Given the description of an element on the screen output the (x, y) to click on. 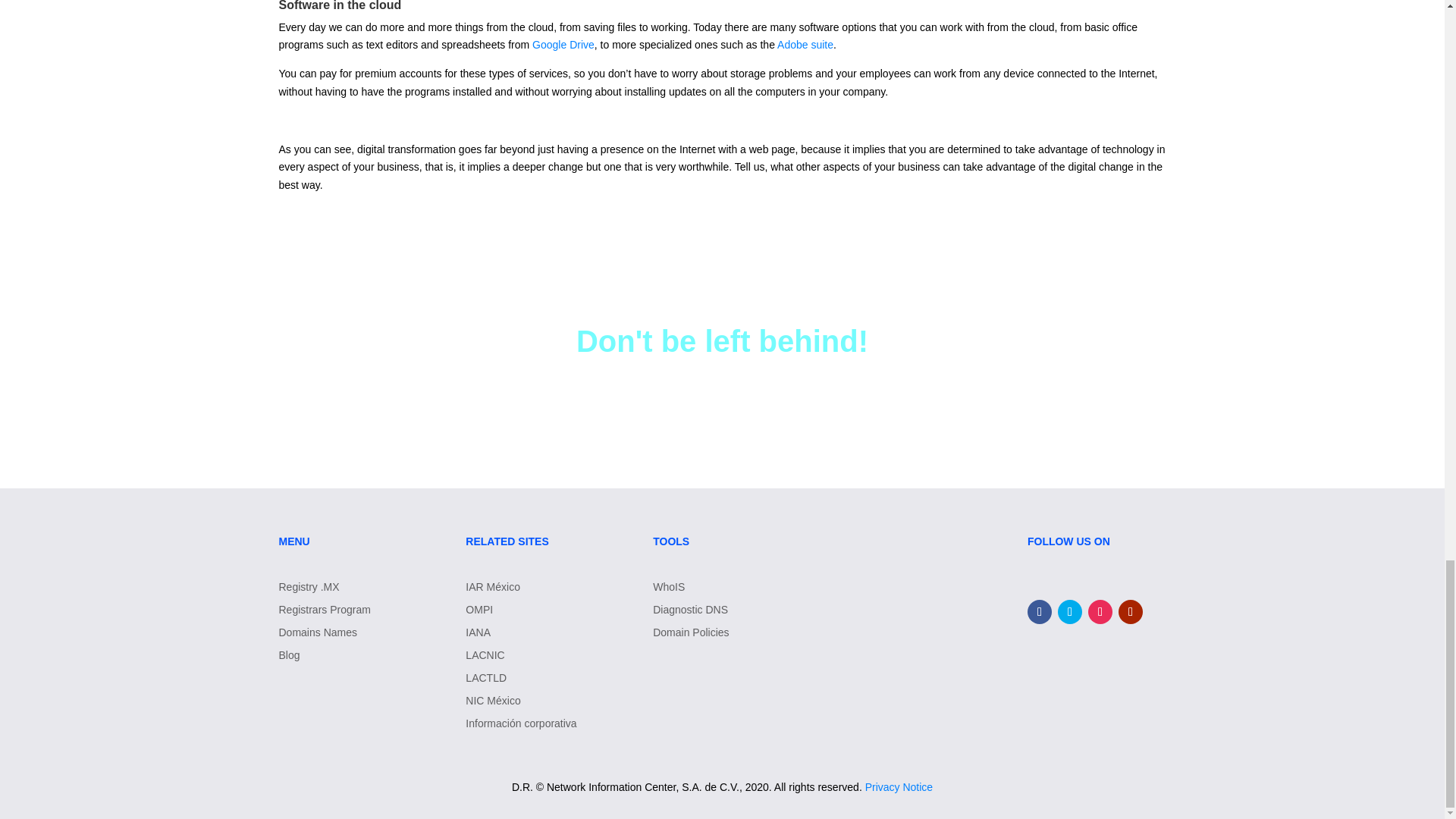
Domains Names (325, 635)
REGISTER YOUR .MX HERE (722, 408)
Registrars Program (325, 612)
Follow on Instagram (1099, 611)
Registry .MX (325, 589)
OMPI (520, 612)
Adobe suite (804, 44)
Blog (325, 658)
Follow on Twitter (1069, 611)
Follow on Facebook (1039, 611)
